Given the description of an element on the screen output the (x, y) to click on. 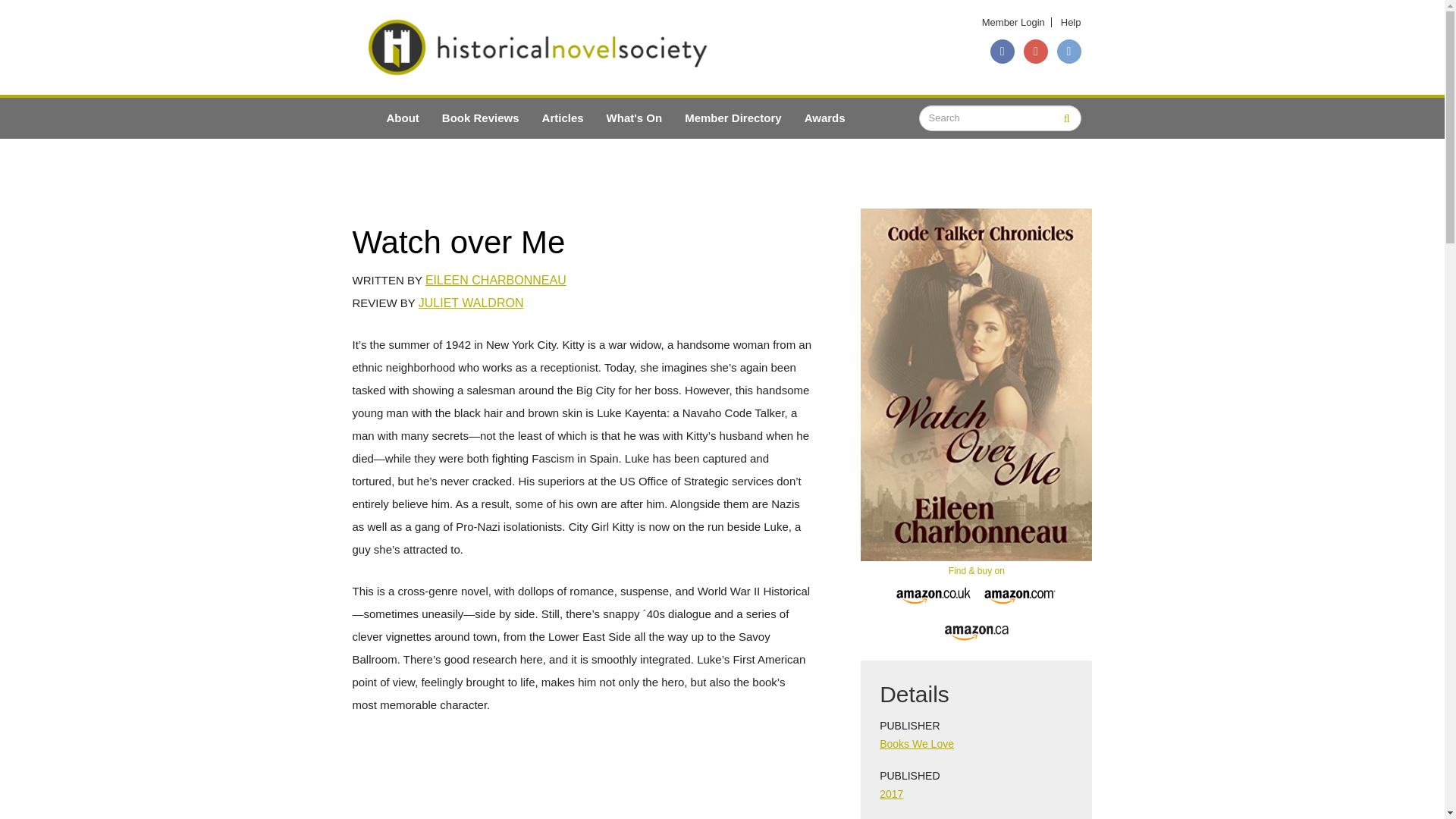
What's On (634, 117)
About (401, 117)
Member Directory (732, 117)
About (401, 117)
youtube (1035, 51)
Book Reviews (480, 117)
Help (1071, 22)
Reviews (480, 117)
Member Login (1013, 22)
facebook (1002, 51)
